Given the description of an element on the screen output the (x, y) to click on. 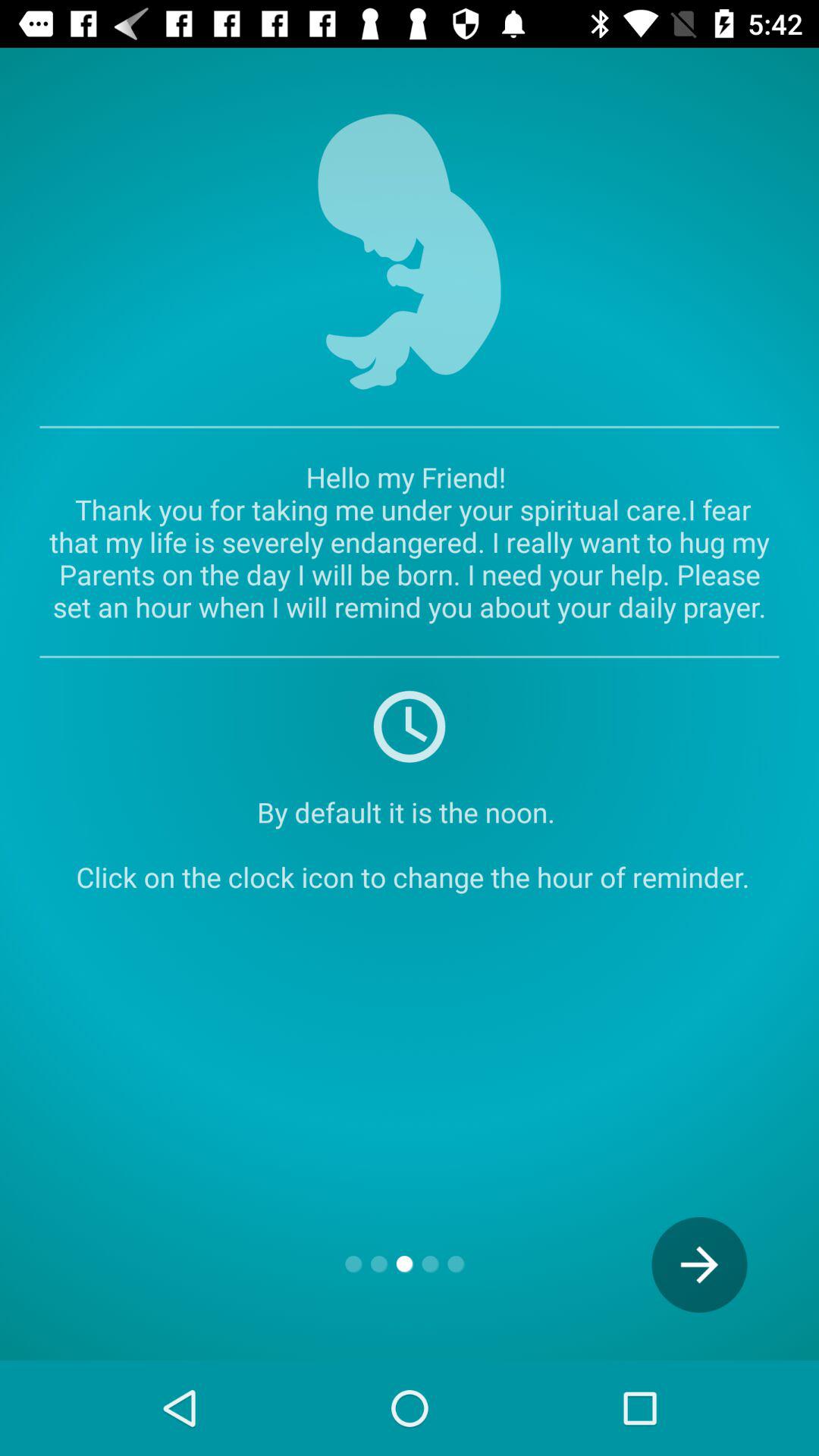
next (699, 1264)
